Given the description of an element on the screen output the (x, y) to click on. 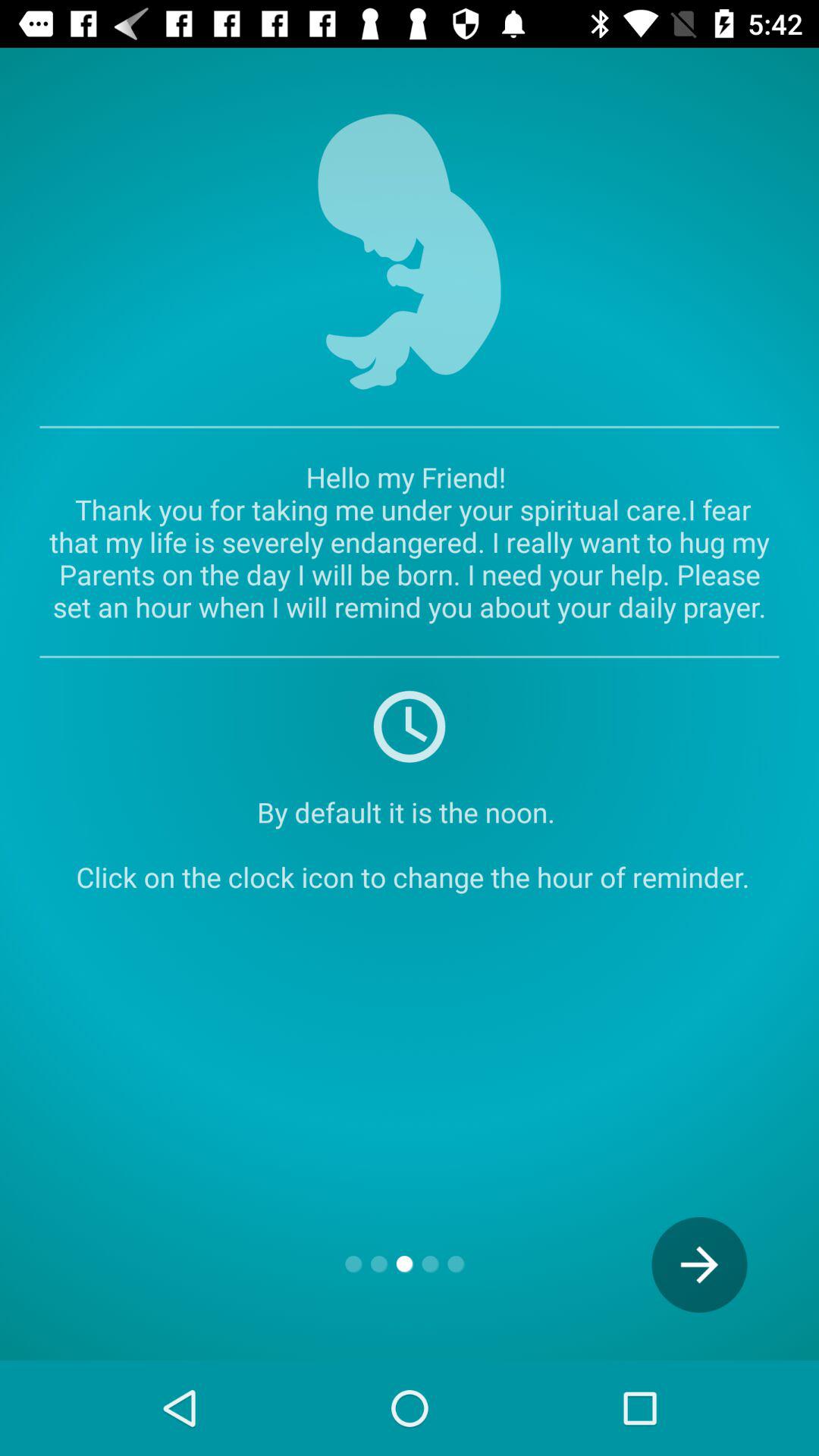
next (699, 1264)
